Given the description of an element on the screen output the (x, y) to click on. 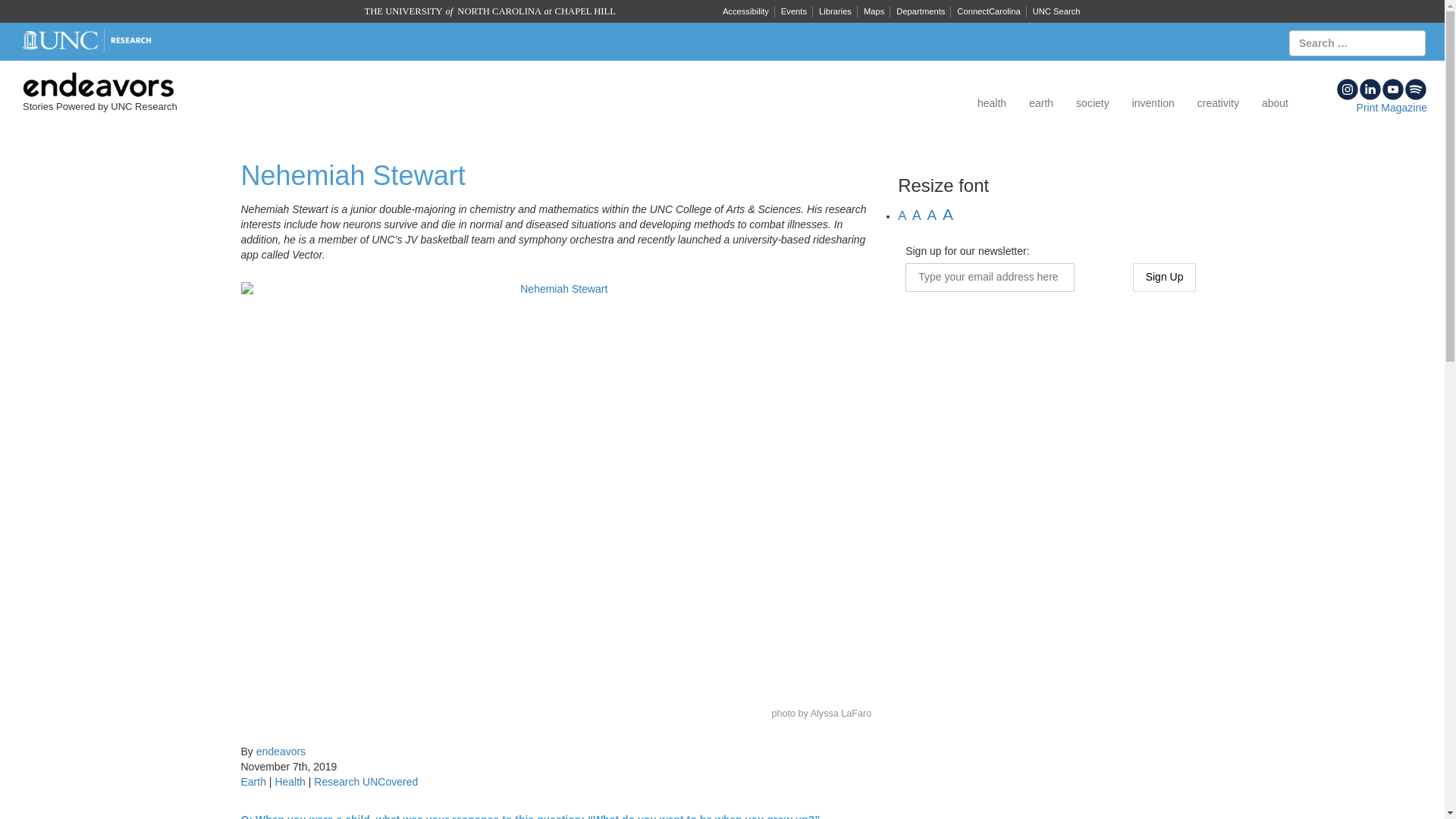
Departments (919, 11)
earth (1040, 103)
Sign Up (1164, 276)
Maps (873, 11)
society (1092, 103)
creativity (1218, 103)
UNC Search (1056, 11)
Print Magazine (1391, 107)
invention (1153, 103)
Research UNCovered (365, 781)
